Given the description of an element on the screen output the (x, y) to click on. 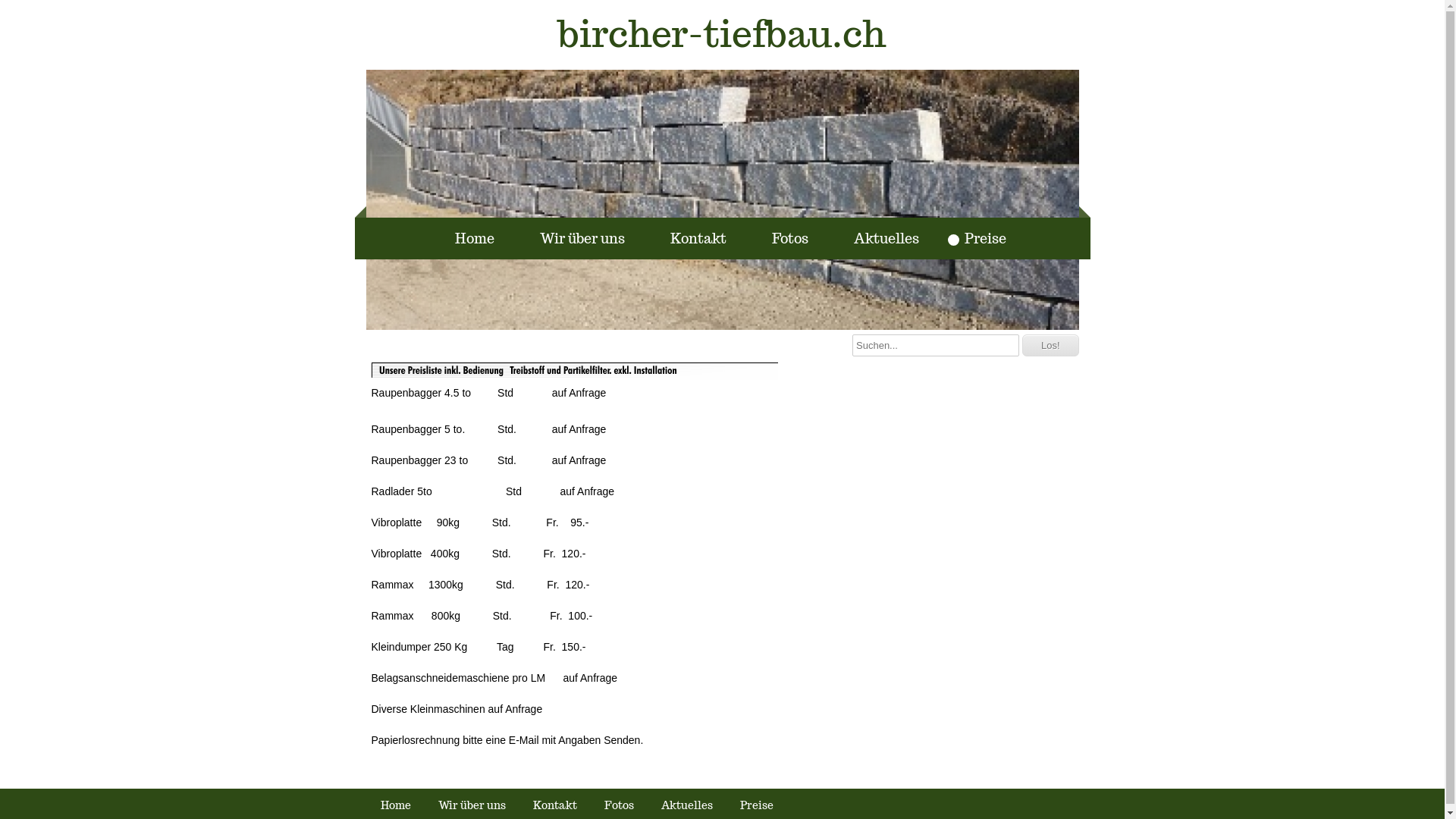
Los! Element type: text (1050, 345)
bircher-tiefbau.ch Element type: text (721, 34)
Home Element type: text (466, 237)
Aktuelles Element type: text (877, 237)
Kontakt Element type: text (690, 237)
Fotos Element type: text (781, 237)
Preise Element type: text (976, 237)
